Given the description of an element on the screen output the (x, y) to click on. 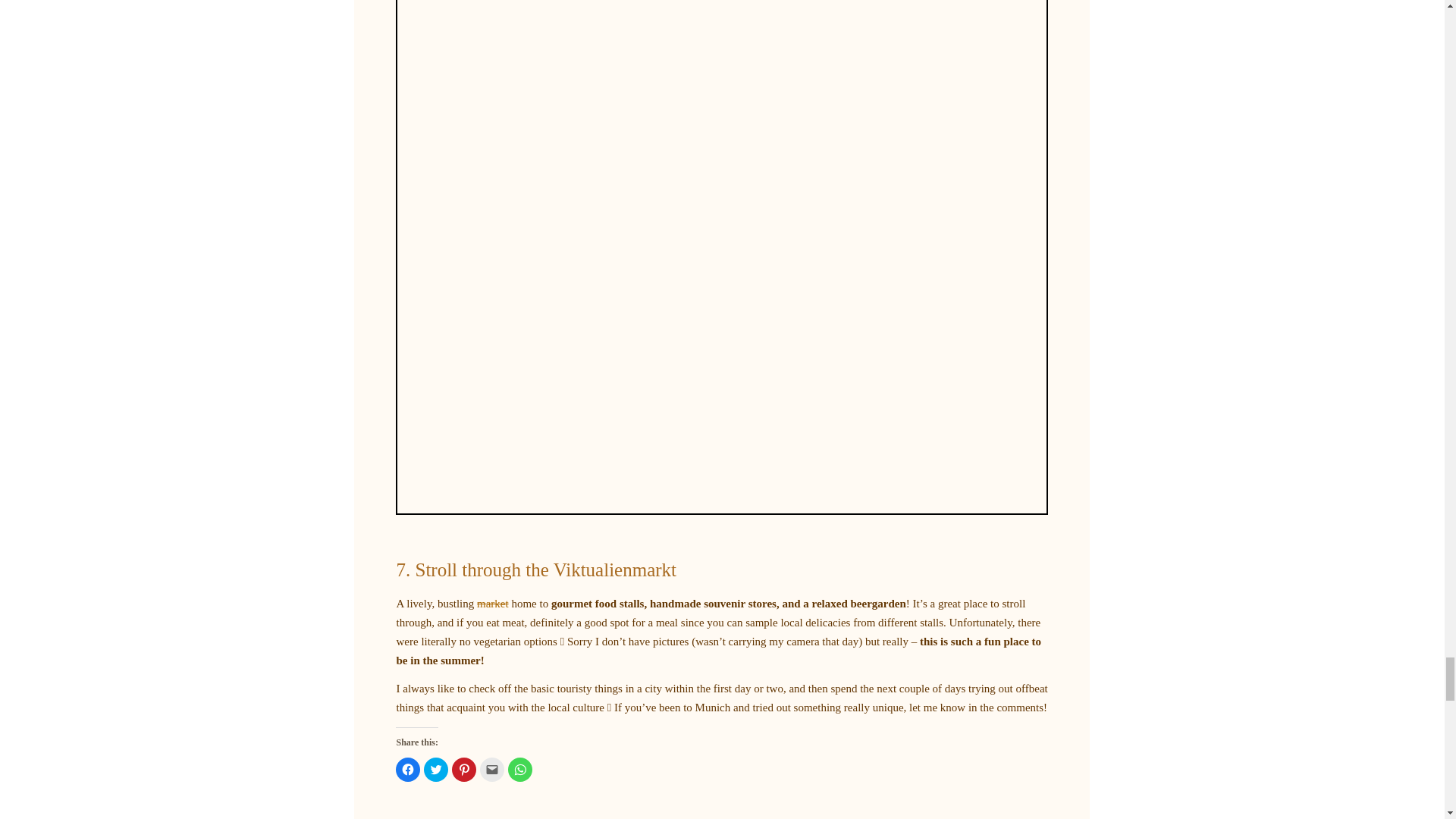
Click to share on Twitter (435, 768)
Click to share on Pinterest (463, 768)
Click to share on Facebook (408, 768)
Click to email a link to a friend (491, 768)
Click to share on WhatsApp (520, 768)
